Given the description of an element on the screen output the (x, y) to click on. 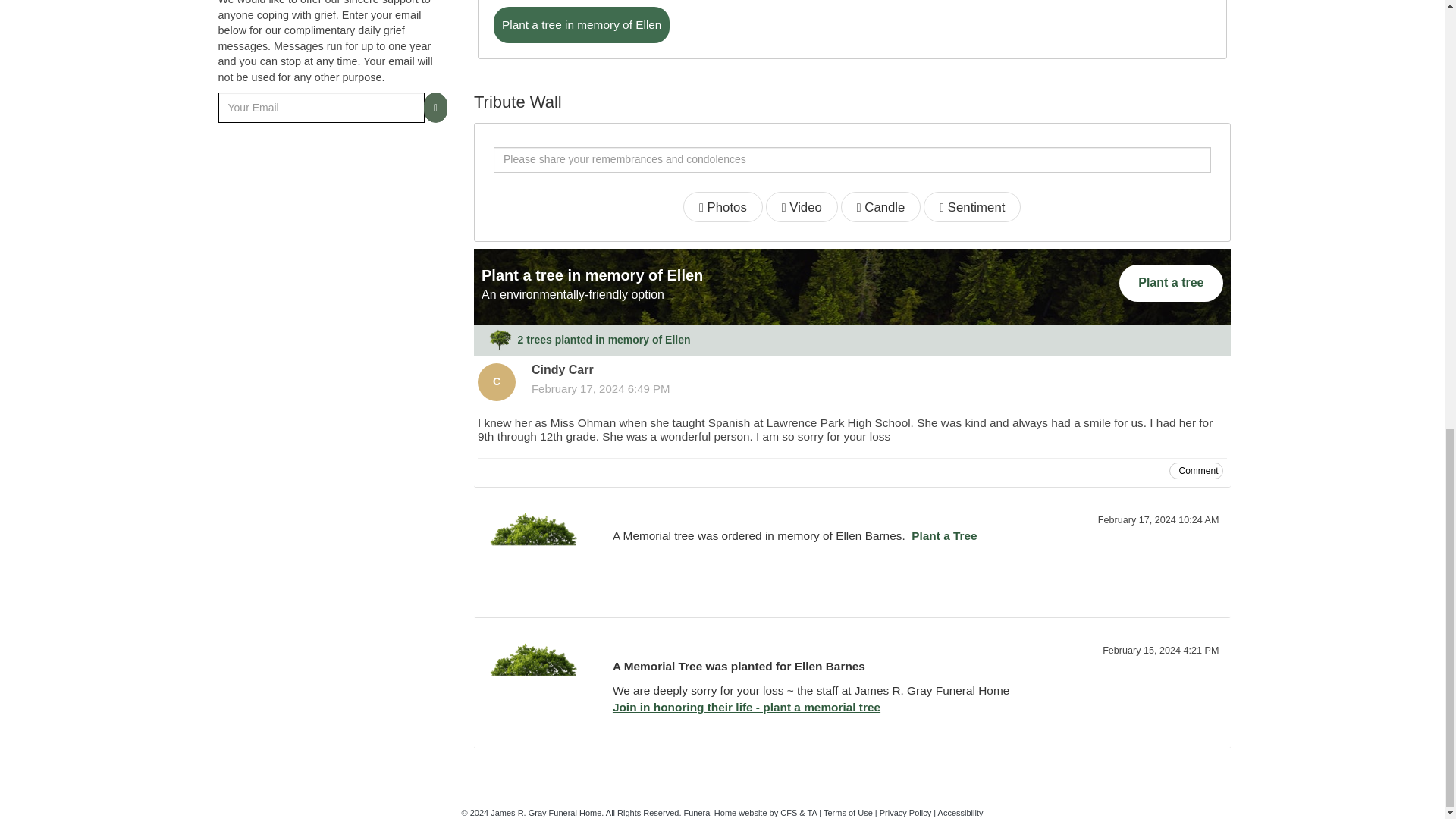
CFS (788, 812)
Plant a tree (1171, 283)
Join in honoring their life - plant a memorial tree (746, 707)
  Comment (1196, 470)
Plant a tree (1171, 282)
Plant a Tree (943, 535)
Cindy Carr (496, 382)
Plant a tree in memory of Ellen (581, 24)
TA (812, 812)
